Given the description of an element on the screen output the (x, y) to click on. 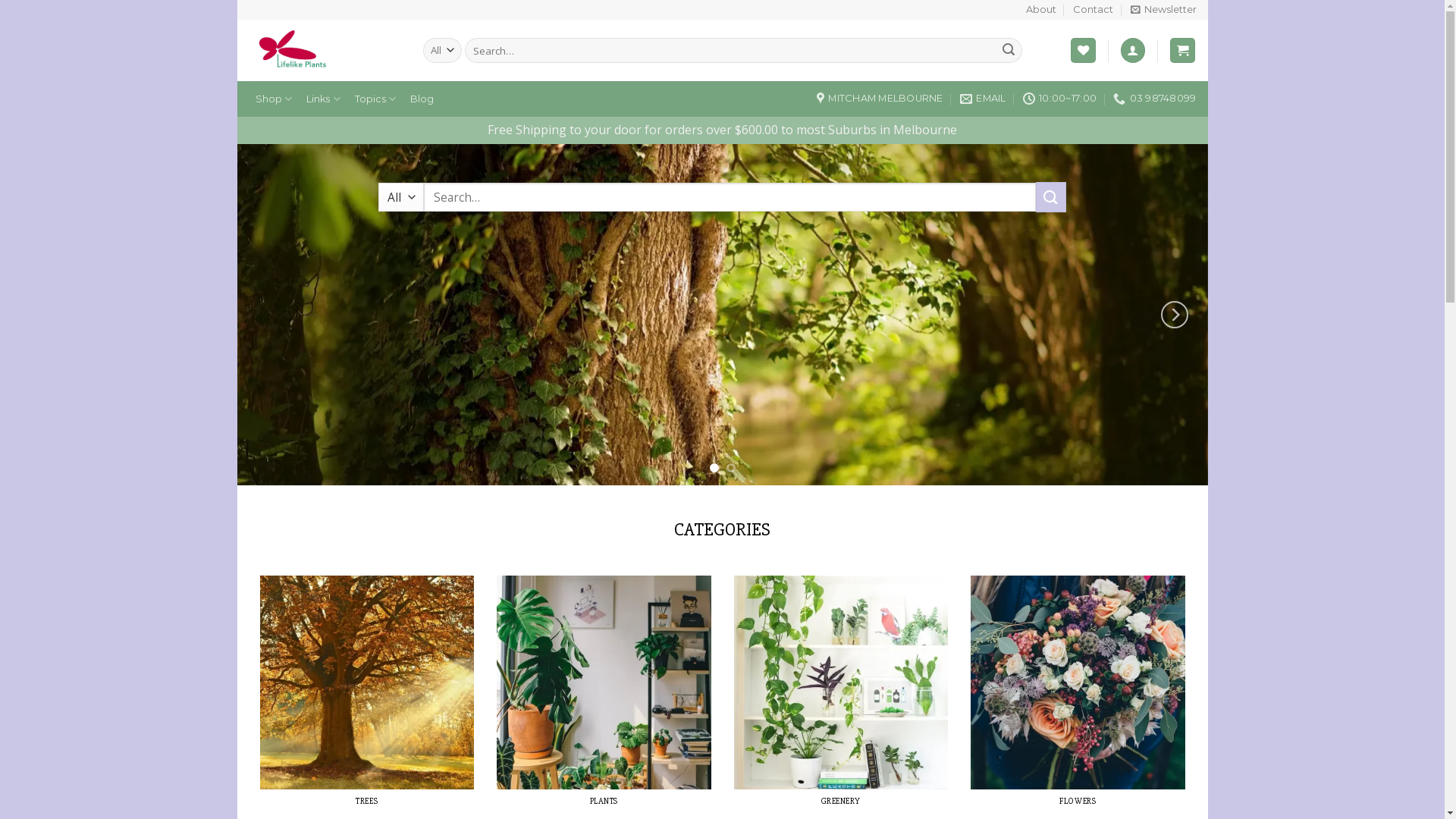
About Element type: text (1041, 9)
03 98748099 Element type: text (1154, 98)
Search Element type: text (1050, 196)
Contact Element type: text (1093, 9)
10:00~17:00 Element type: text (1059, 98)
EMAIL Element type: text (983, 98)
Newsletter Element type: text (1162, 9)
Topics Element type: text (374, 98)
Cart Element type: hover (1182, 49)
MITCHAM MELBOURNE Element type: text (879, 98)
Blog Element type: text (422, 98)
Shop Element type: text (273, 98)
Links Element type: text (323, 98)
Search Element type: text (1008, 50)
